Given the description of an element on the screen output the (x, y) to click on. 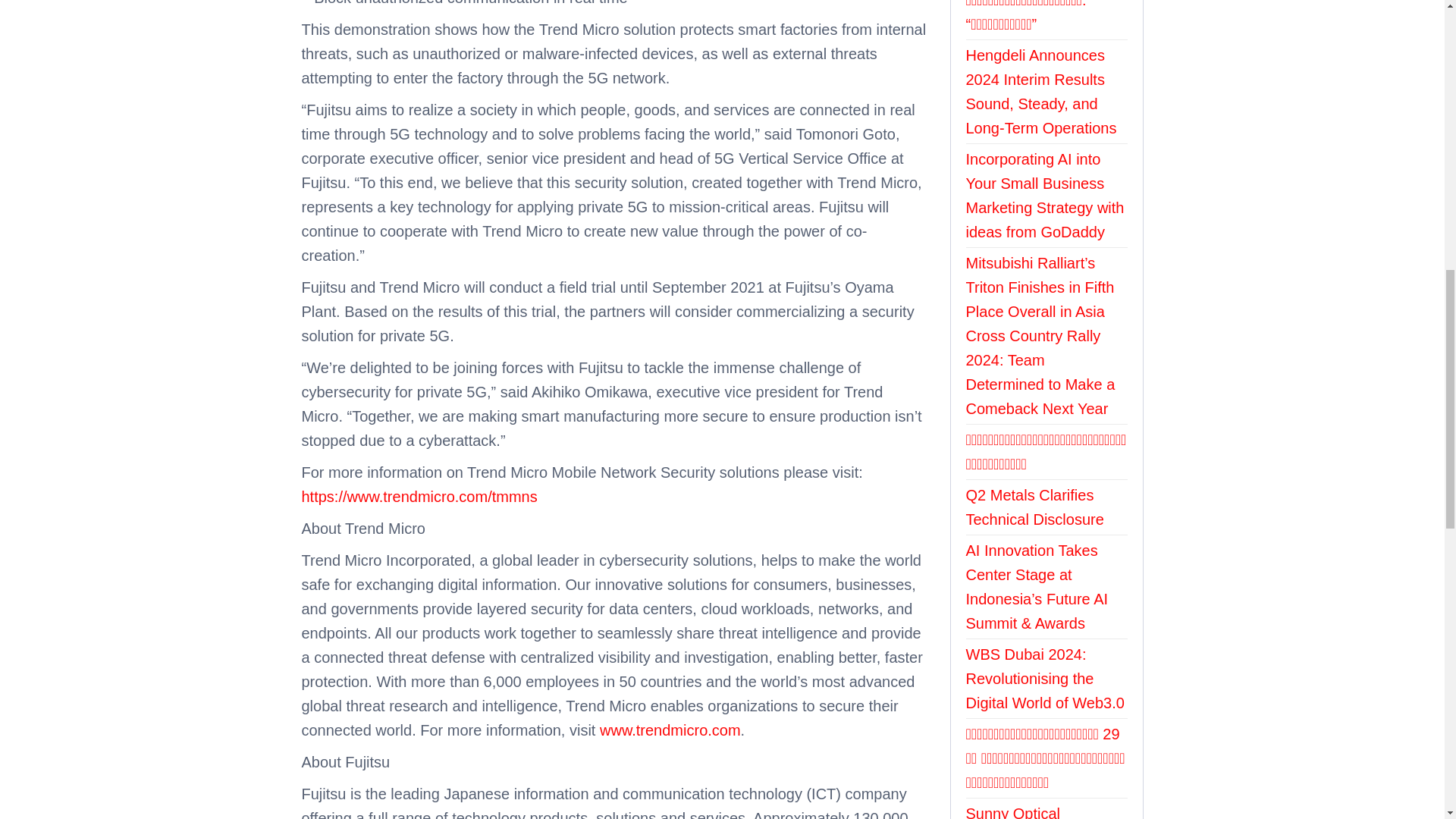
Q2 Metals Clarifies Technical Disclosure (1034, 506)
WBS Dubai 2024: Revolutionising the Digital World of Web3.0 (1045, 678)
www.trendmicro.com (670, 729)
